Given the description of an element on the screen output the (x, y) to click on. 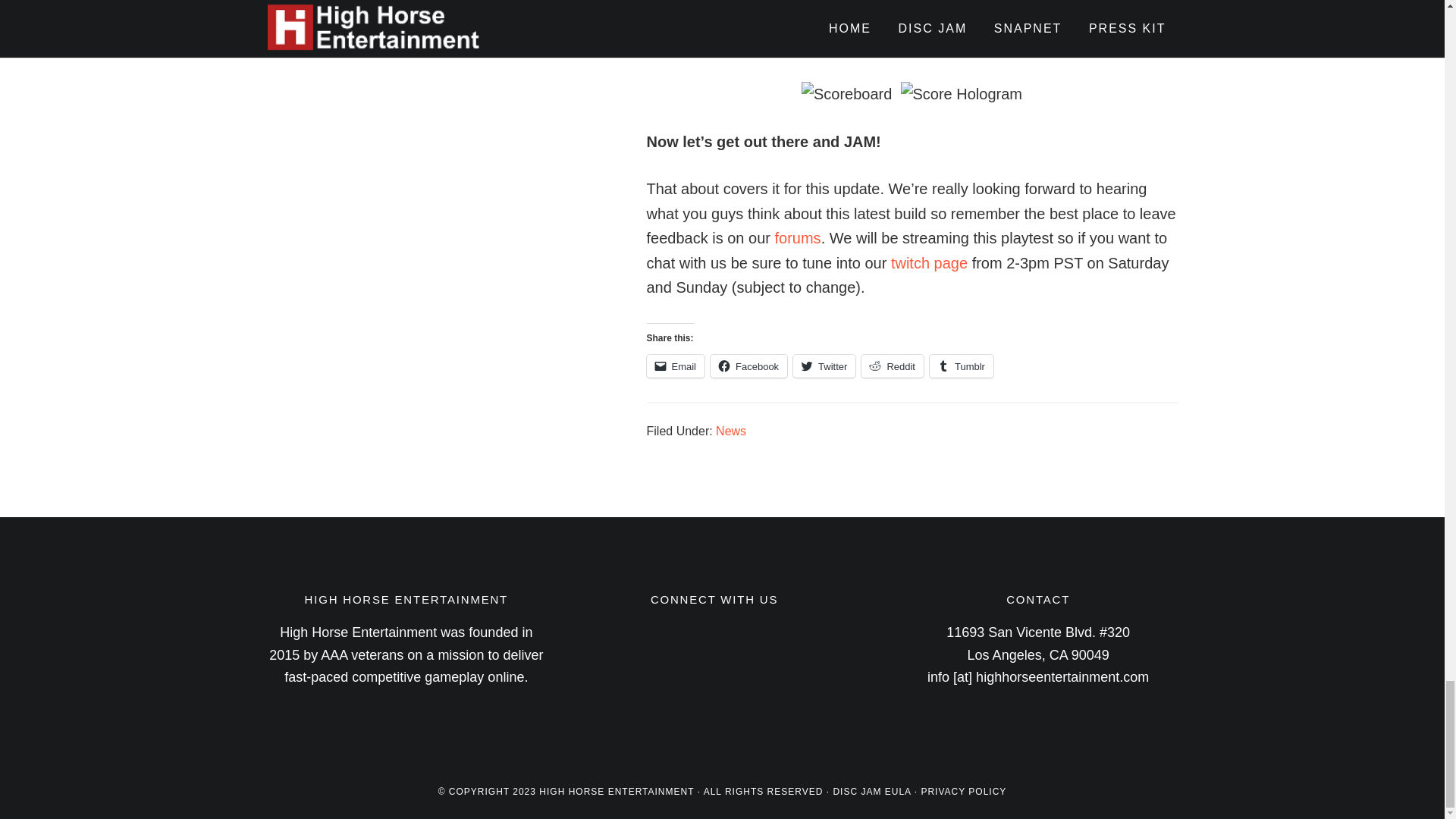
Click to share on Reddit (892, 365)
Twitter (824, 365)
Click to share on Tumblr (961, 365)
News (730, 431)
twitch page (929, 262)
Reddit (892, 365)
Click to share on Facebook (748, 365)
Click to share on Twitter (824, 365)
Tumblr (961, 365)
Click to email a link to a friend (675, 365)
Facebook (748, 365)
forums (797, 238)
Email (675, 365)
